Given the description of an element on the screen output the (x, y) to click on. 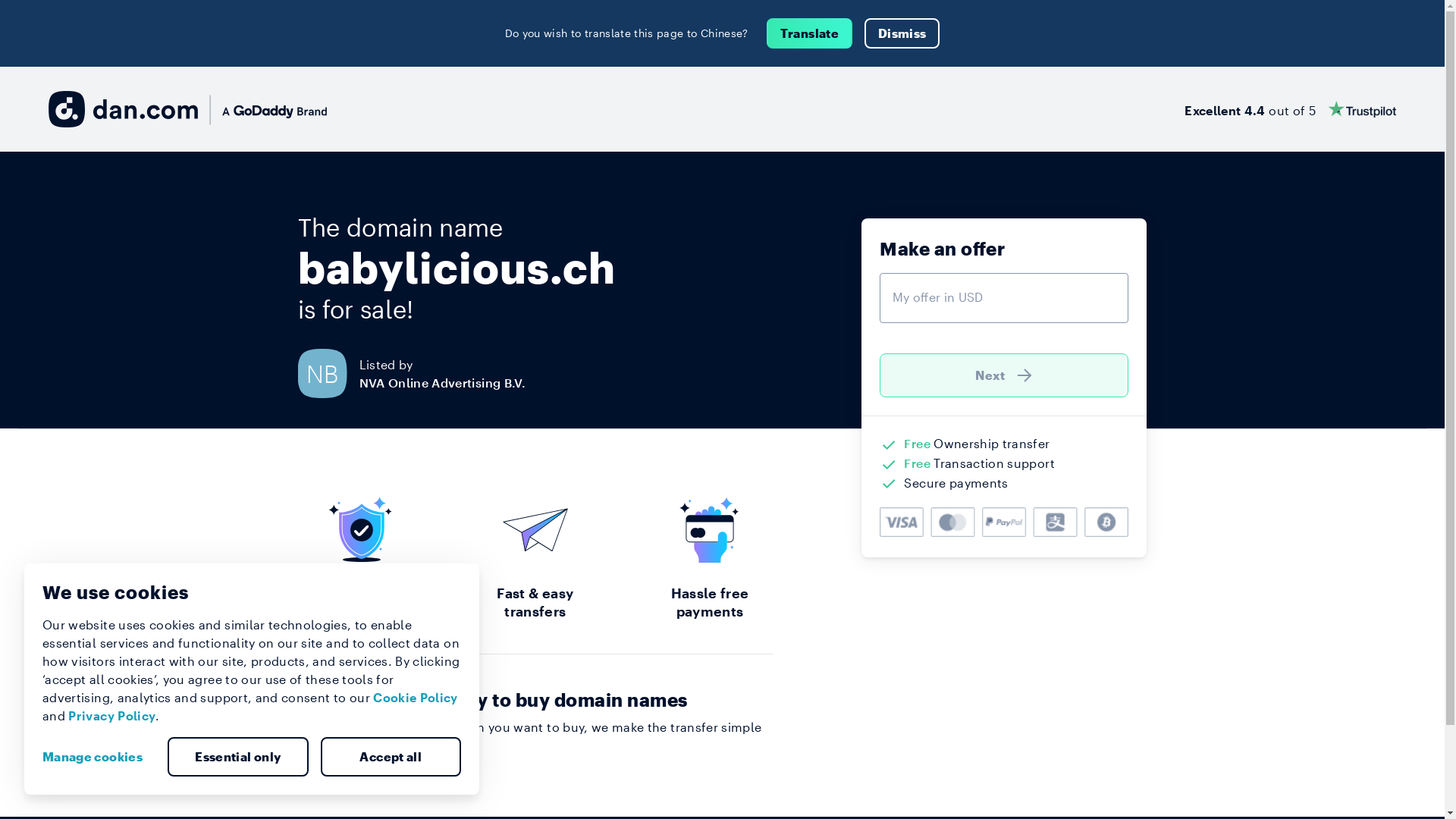
Cookie Policy Element type: text (415, 697)
Dismiss Element type: text (901, 33)
Essential only Element type: text (237, 756)
Translate Element type: text (809, 33)
Excellent 4.4 out of 5 Element type: text (1290, 109)
Next
) Element type: text (1003, 375)
Manage cookies Element type: text (98, 756)
Accept all Element type: text (390, 756)
Privacy Policy Element type: text (111, 715)
